Given the description of an element on the screen output the (x, y) to click on. 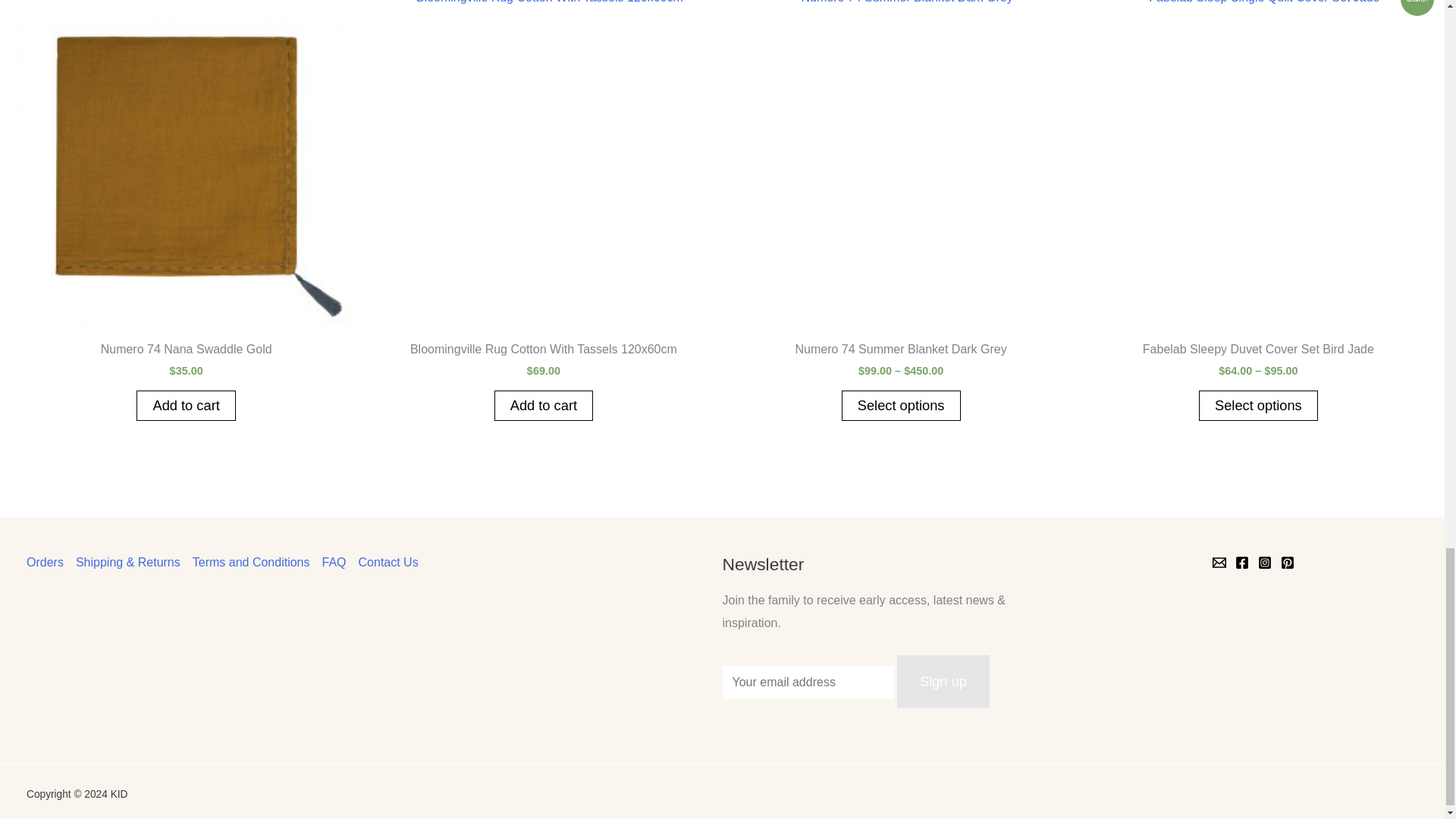
Sign up (943, 681)
